Given the description of an element on the screen output the (x, y) to click on. 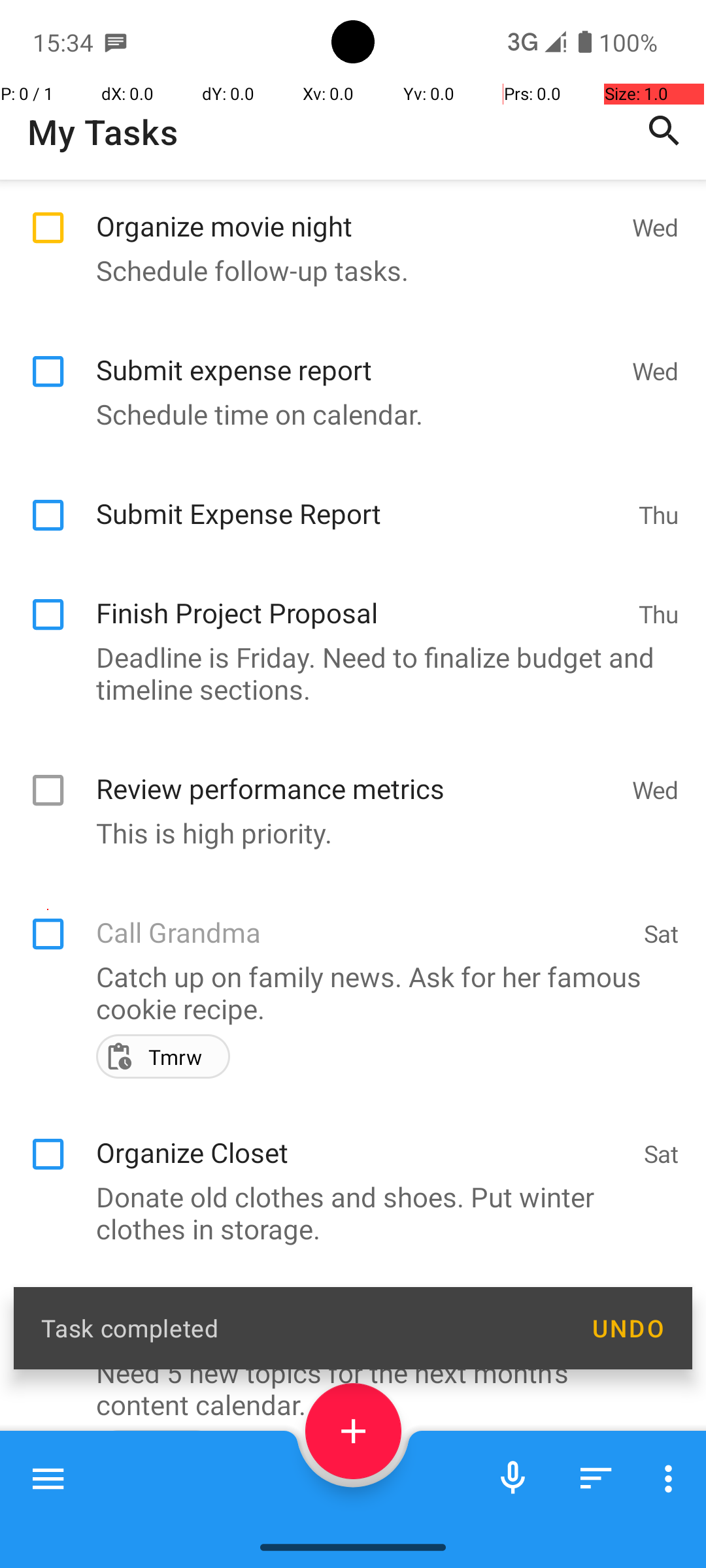
Task completed Element type: android.widget.TextView (302, 1327)
UNDO Element type: android.widget.Button (627, 1328)
Organize movie night Element type: android.widget.TextView (357, 211)
Schedule follow-up tasks. Element type: android.widget.TextView (346, 269)
Submit expense report Element type: android.widget.TextView (357, 355)
Schedule time on calendar. Element type: android.widget.TextView (346, 413)
Deadline is Friday. Need to finalize budget and timeline sections. Element type: android.widget.TextView (346, 672)
Review performance metrics Element type: android.widget.TextView (357, 774)
This is high priority. Element type: android.widget.TextView (346, 832)
Catch up on family news. Ask for her famous cookie recipe. Element type: android.widget.TextView (346, 992)
Sat Element type: android.widget.TextView (661, 932)
Donate old clothes and shoes. Put winter clothes in storage. Element type: android.widget.TextView (346, 1212)
Brainstorm Blog Post Ideas Element type: android.widget.TextView (363, 1313)
Need 5 new topics for the next month's content calendar. Element type: android.widget.TextView (346, 1387)
Oct 22 Element type: android.widget.TextView (644, 1515)
